Given the description of an element on the screen output the (x, y) to click on. 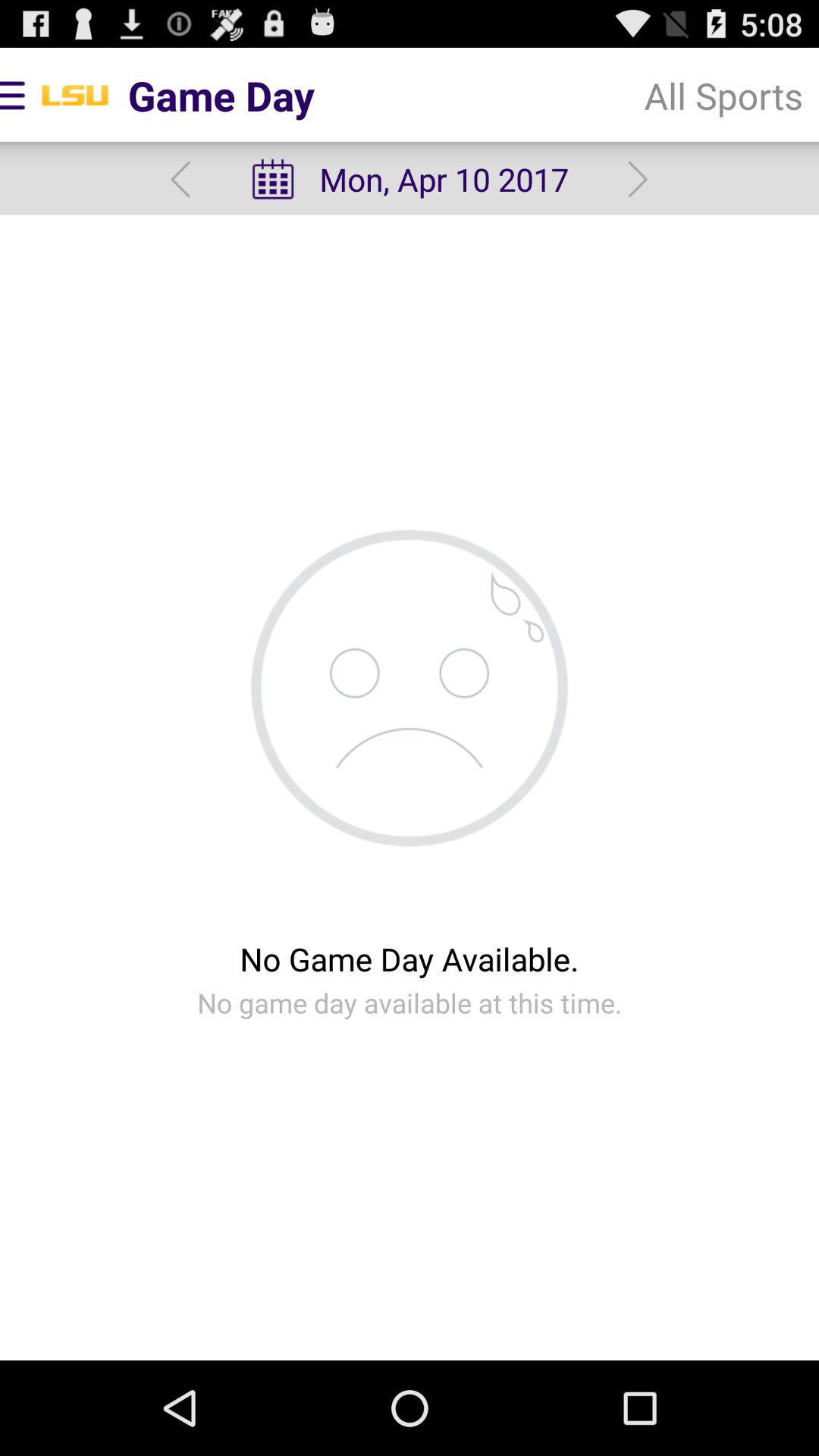
open the item below all sports item (637, 178)
